Given the description of an element on the screen output the (x, y) to click on. 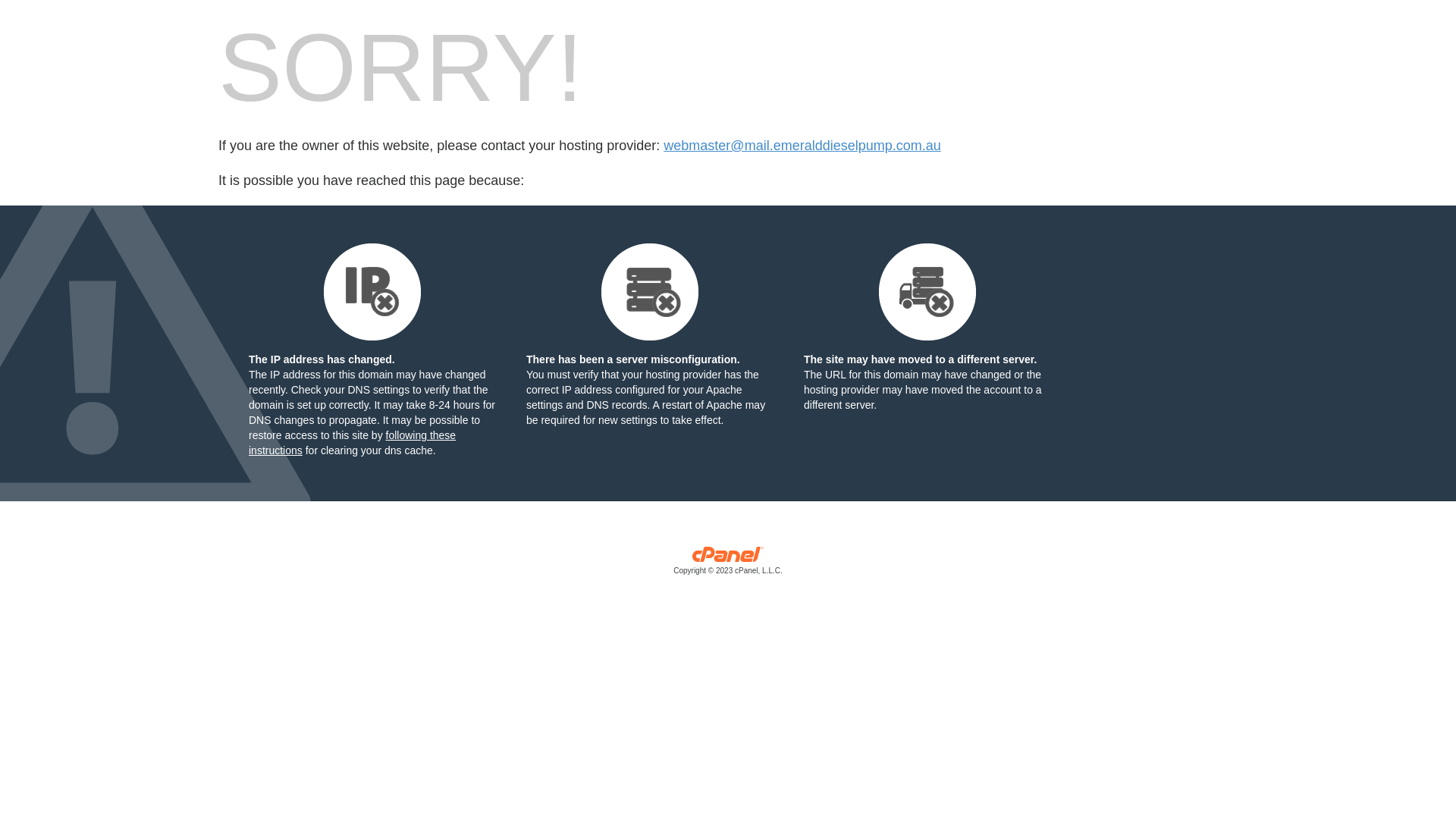
webmaster@mail.emeralddieselpump.com.au Element type: text (801, 145)
following these instructions Element type: text (351, 442)
